Given the description of an element on the screen output the (x, y) to click on. 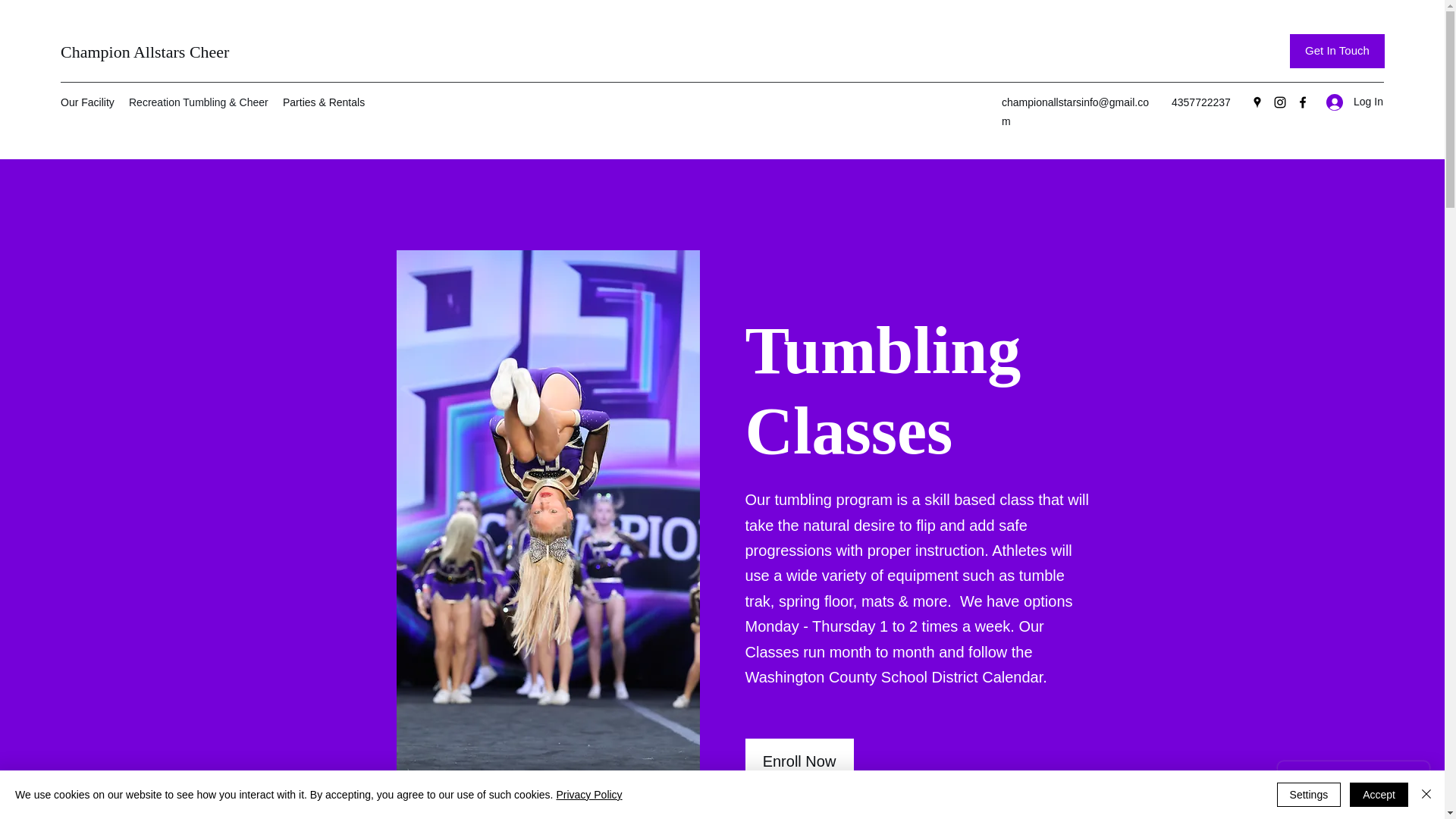
Log In (1350, 101)
Settings (1308, 794)
Privacy Policy (588, 794)
Enroll Now (798, 760)
Get In Touch (1337, 50)
Accept (1378, 794)
Our Facility (86, 101)
Champion Allstars Cheer (144, 51)
